Given the description of an element on the screen output the (x, y) to click on. 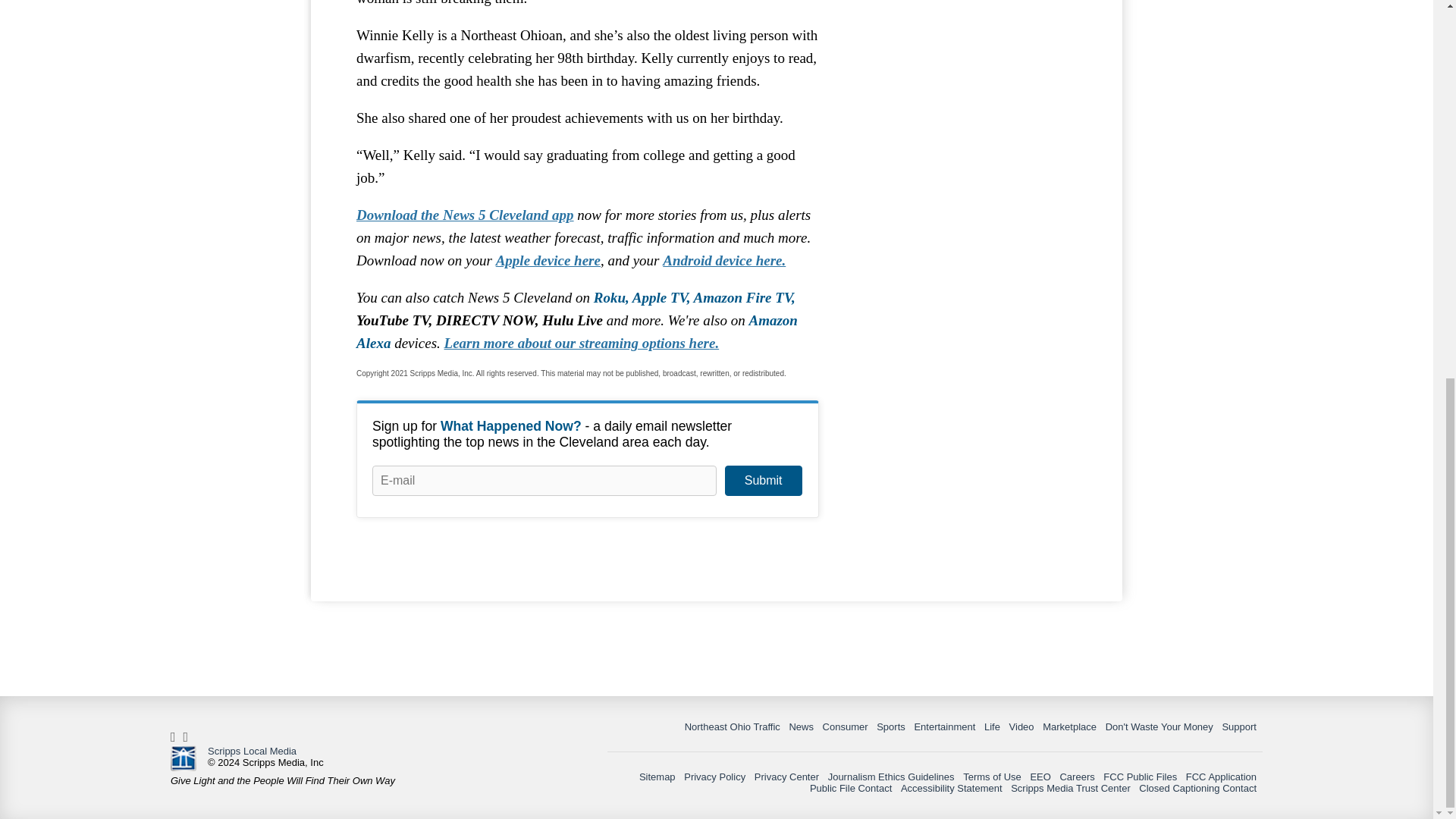
Submit (763, 481)
